Given the description of an element on the screen output the (x, y) to click on. 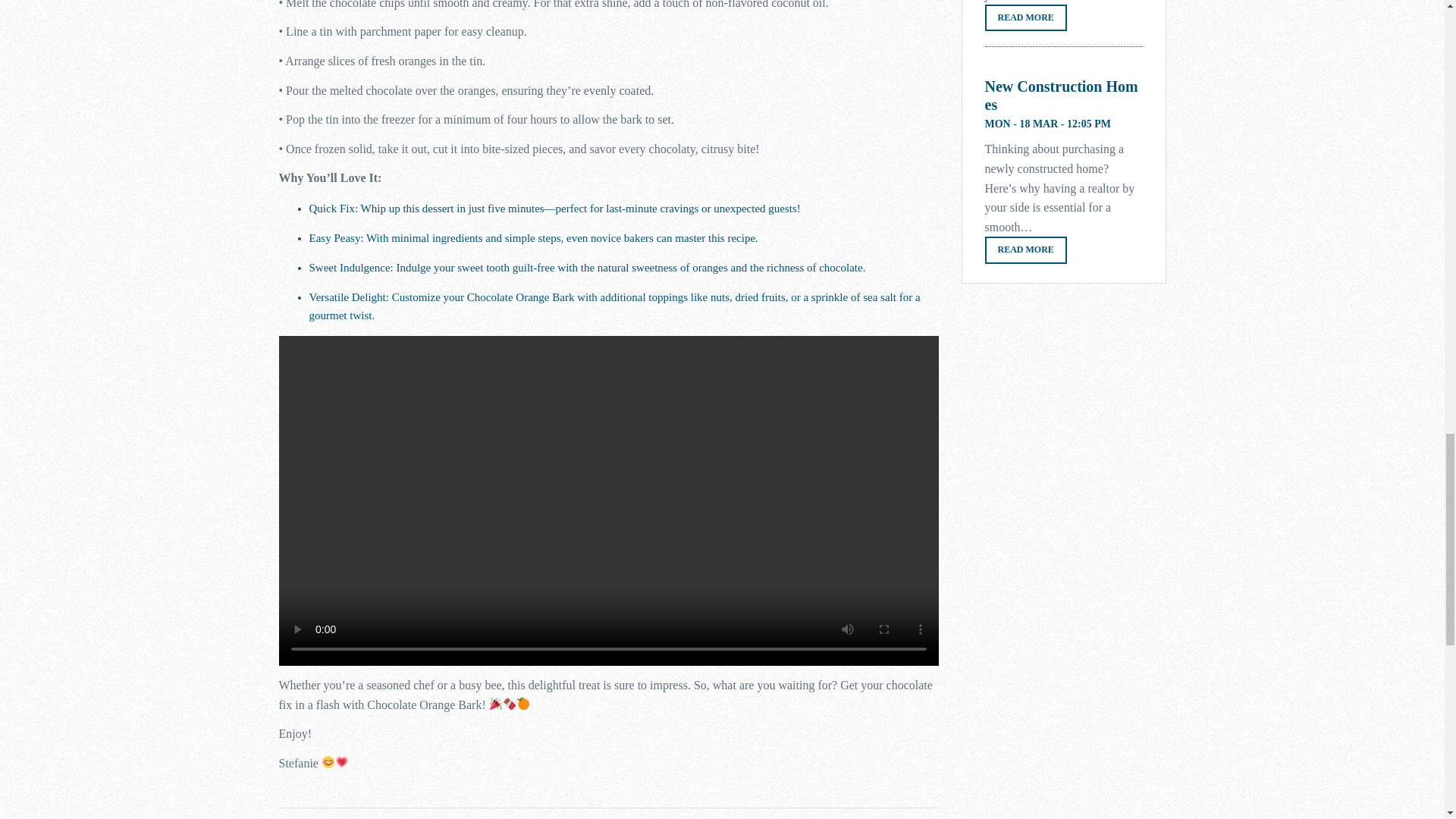
New Construction Homes (1062, 94)
READ MORE (1024, 17)
READ MORE (1024, 249)
